Given the description of an element on the screen output the (x, y) to click on. 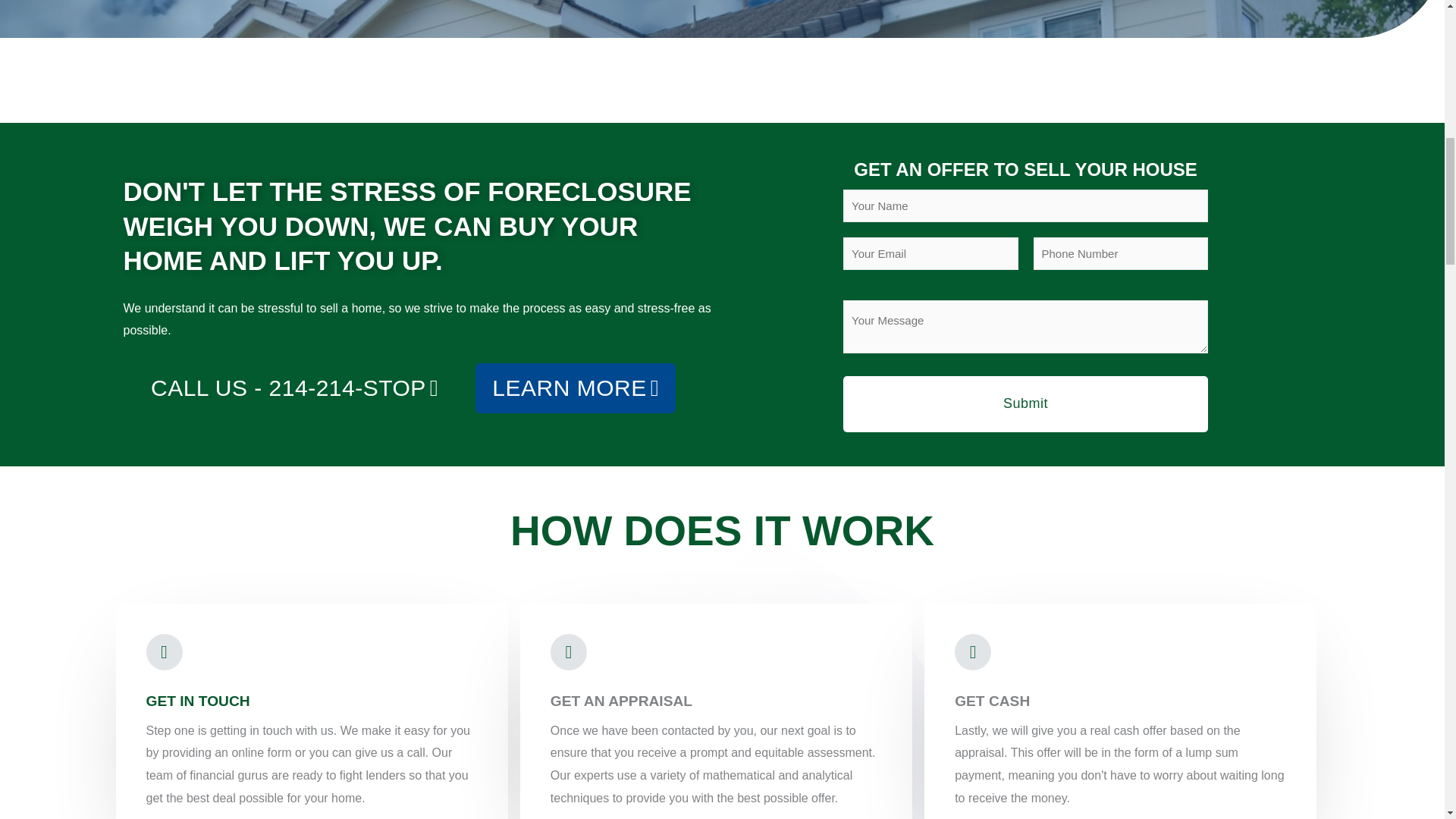
CALL US - 214-214-STOP (294, 387)
LEARN MORE (575, 388)
Submit (1025, 403)
